Given the description of an element on the screen output the (x, y) to click on. 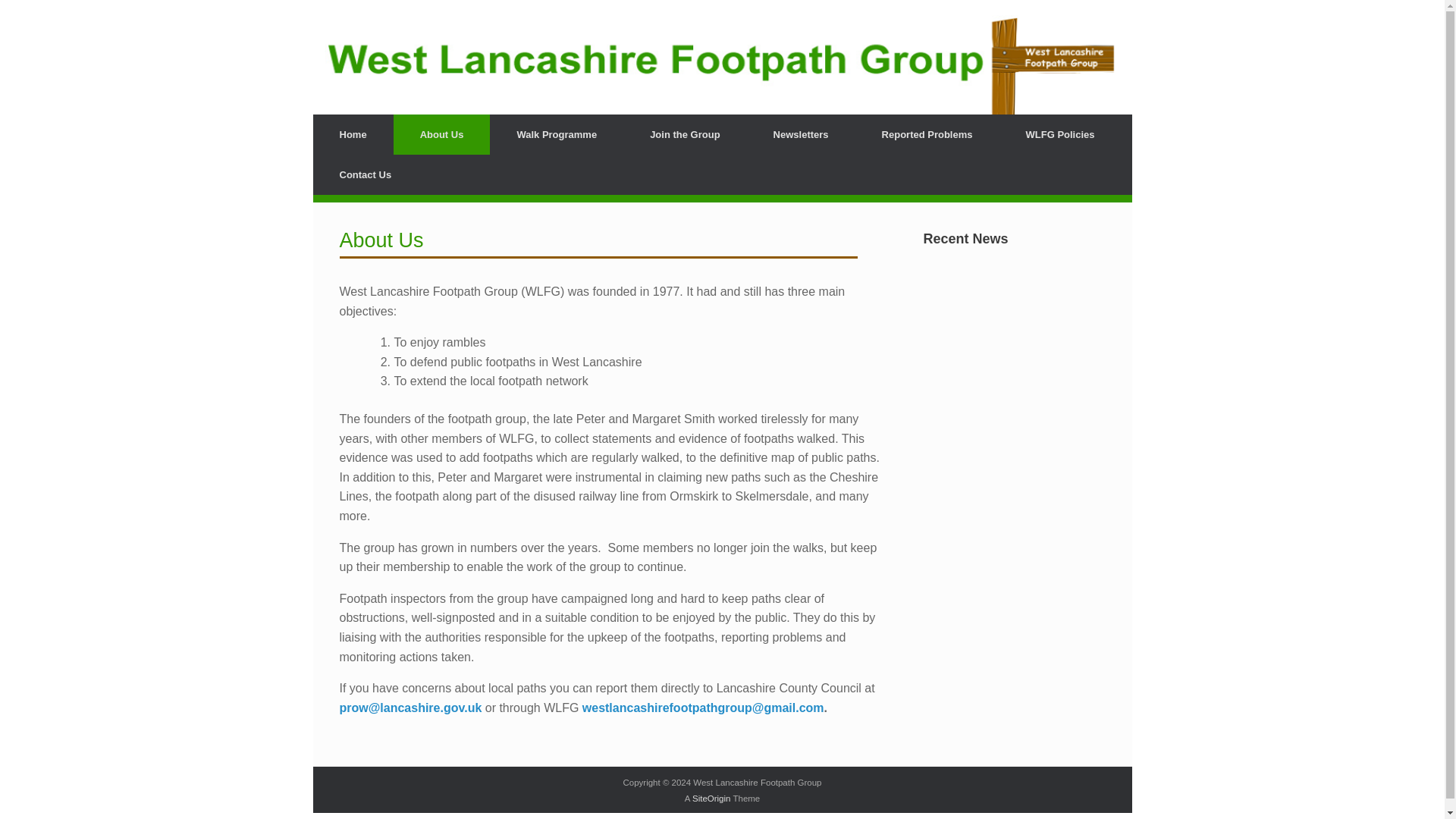
Home (353, 134)
West Lancashire Footpath Group (722, 64)
SiteOrigin (711, 798)
WLFG Policies (1059, 134)
Walk Programme (556, 134)
Newsletters (801, 134)
About Us (441, 134)
Contact Us (365, 174)
Reported Problems (927, 134)
